Given the description of an element on the screen output the (x, y) to click on. 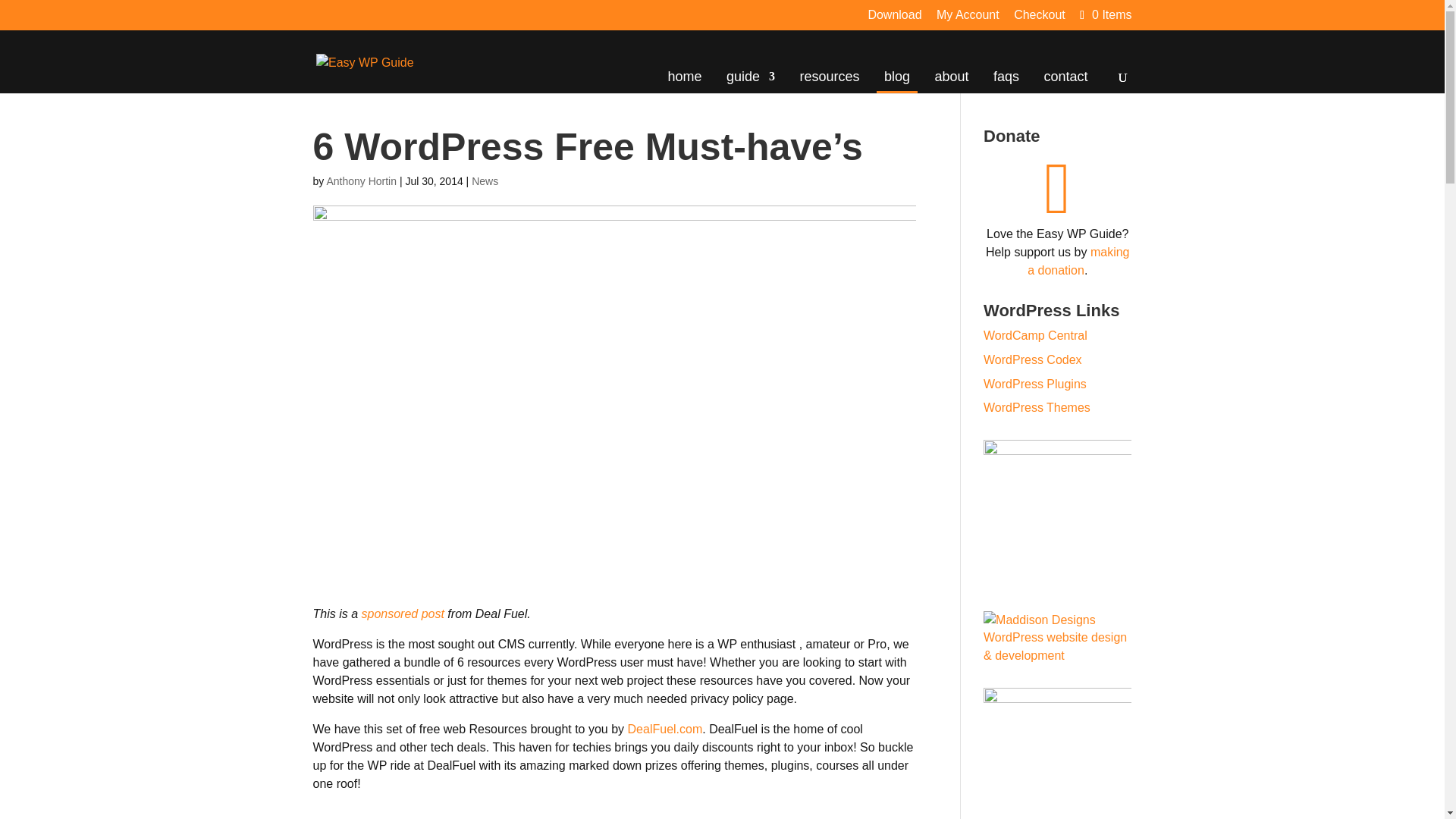
My Account (967, 19)
about (951, 79)
home (684, 79)
resources (829, 79)
contact (1065, 79)
home (684, 79)
Checkout (1039, 19)
blog (896, 79)
What is a sponsored post? (402, 613)
Visit Deal Fuel (665, 728)
